Given the description of an element on the screen output the (x, y) to click on. 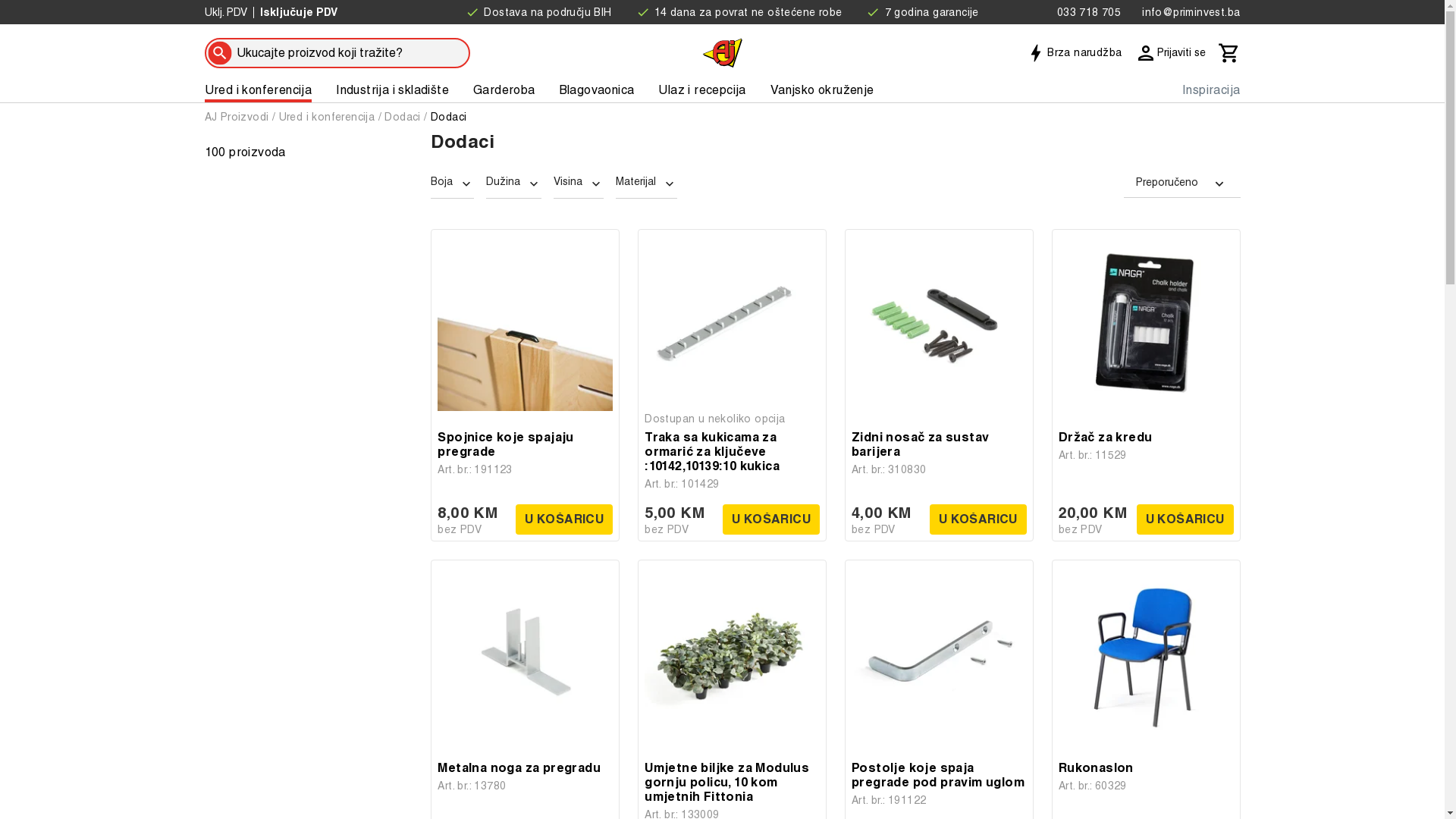
Inspiracija Element type: text (1210, 90)
Garderoba Element type: text (504, 90)
Uklj. PDV Element type: text (225, 12)
Boja Element type: text (451, 182)
7 godina garancije Element type: text (922, 12)
Blagovaonica Element type: text (596, 90)
AJ Proizvodi Element type: text (236, 116)
Dodaci Element type: text (448, 116)
0 Element type: text (1228, 51)
Materijal Element type: text (646, 182)
Spojnice koje spajaju pregrade
Art. br.: 191123 Element type: text (524, 453)
Ured i konferencija Element type: text (327, 116)
Ured i konferencija Element type: text (258, 90)
Dodaci Element type: text (402, 116)
Prijaviti se Element type: text (1169, 51)
033 718 705 Element type: text (1085, 12)
Visina Element type: text (578, 182)
info@priminvest.ba Element type: text (1187, 12)
Ulaz i recepcija Element type: text (701, 90)
